Given the description of an element on the screen output the (x, y) to click on. 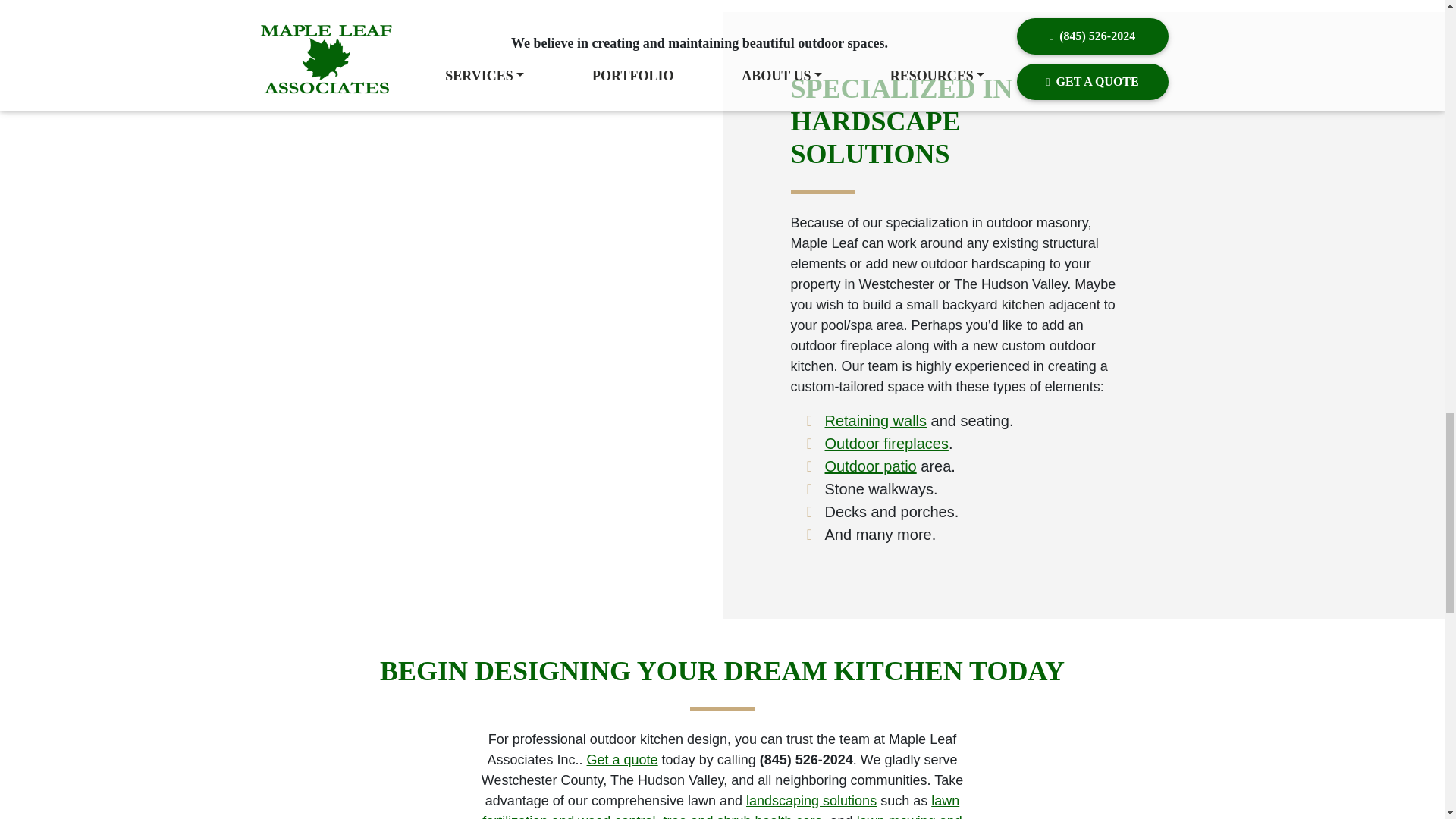
Get a quote (622, 759)
Retaining walls (876, 420)
lawn fertilization and weed control (720, 806)
landscaping solutions (810, 800)
tree and shrub health care (742, 816)
Outdoor fireplaces (887, 443)
Outdoor patio (871, 466)
